Given the description of an element on the screen output the (x, y) to click on. 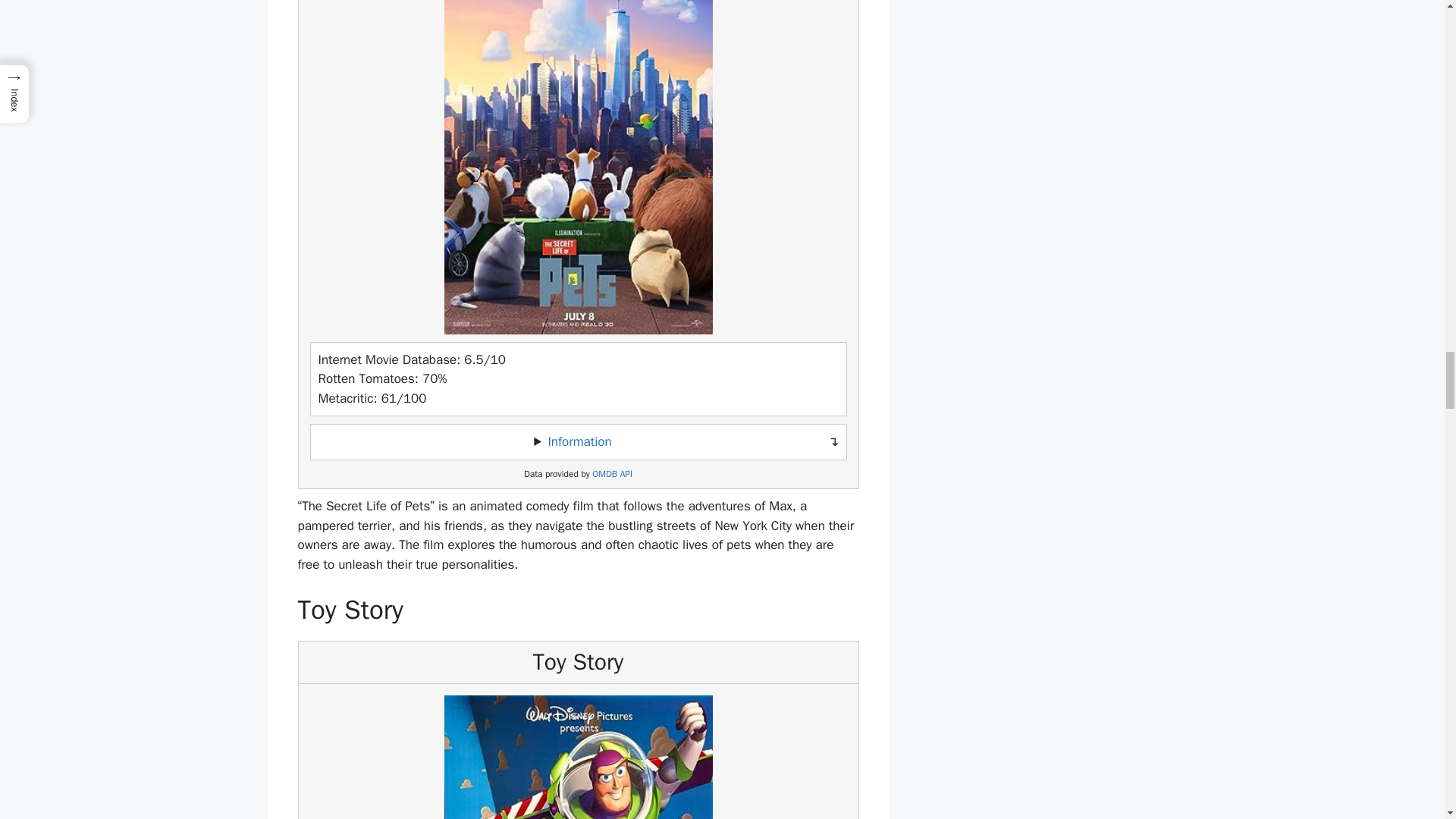
Information (579, 441)
OMDB API (611, 473)
Toggle information (578, 442)
Open Movie Database API (611, 473)
